Given the description of an element on the screen output the (x, y) to click on. 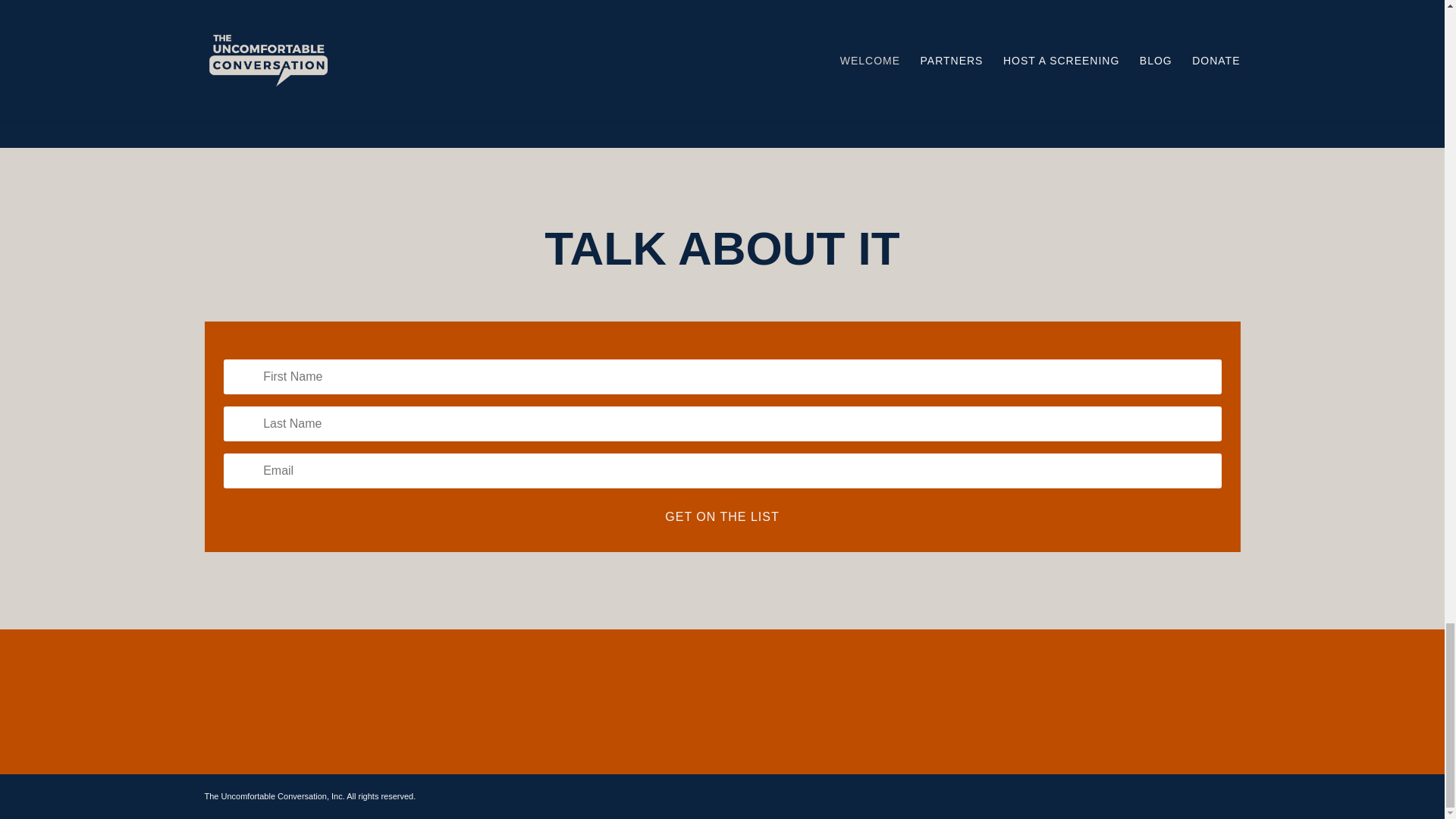
AskMen (754, 62)
NY Observer (690, 62)
GET ON THE LIST (721, 516)
WHYY (631, 62)
Philadelphia Metro (890, 52)
